Given the description of an element on the screen output the (x, y) to click on. 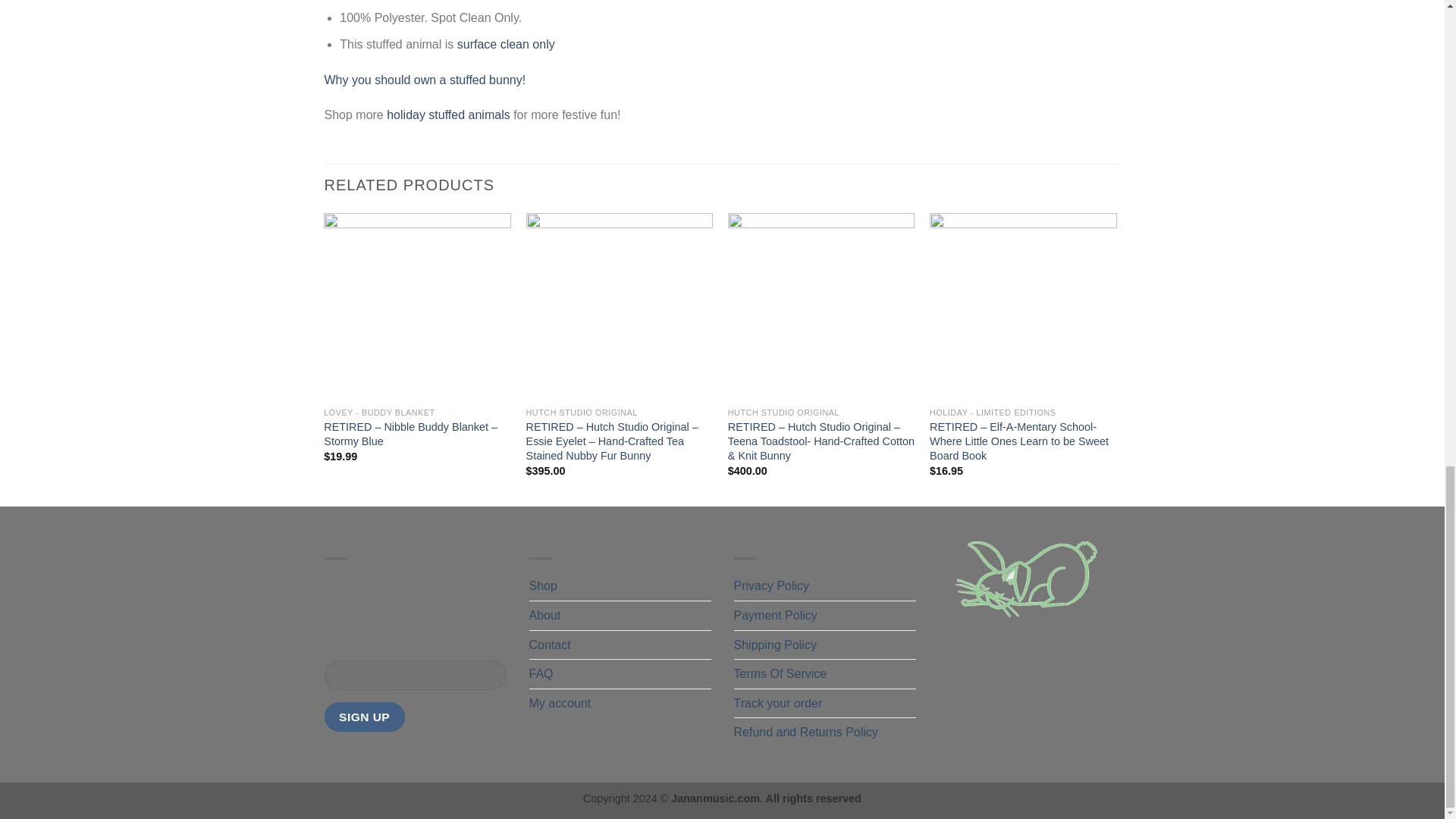
surface clean only (505, 43)
Sign Up (364, 716)
Why you should own a stuffed bunny! (424, 79)
holiday stuffed animals (448, 114)
